Given the description of an element on the screen output the (x, y) to click on. 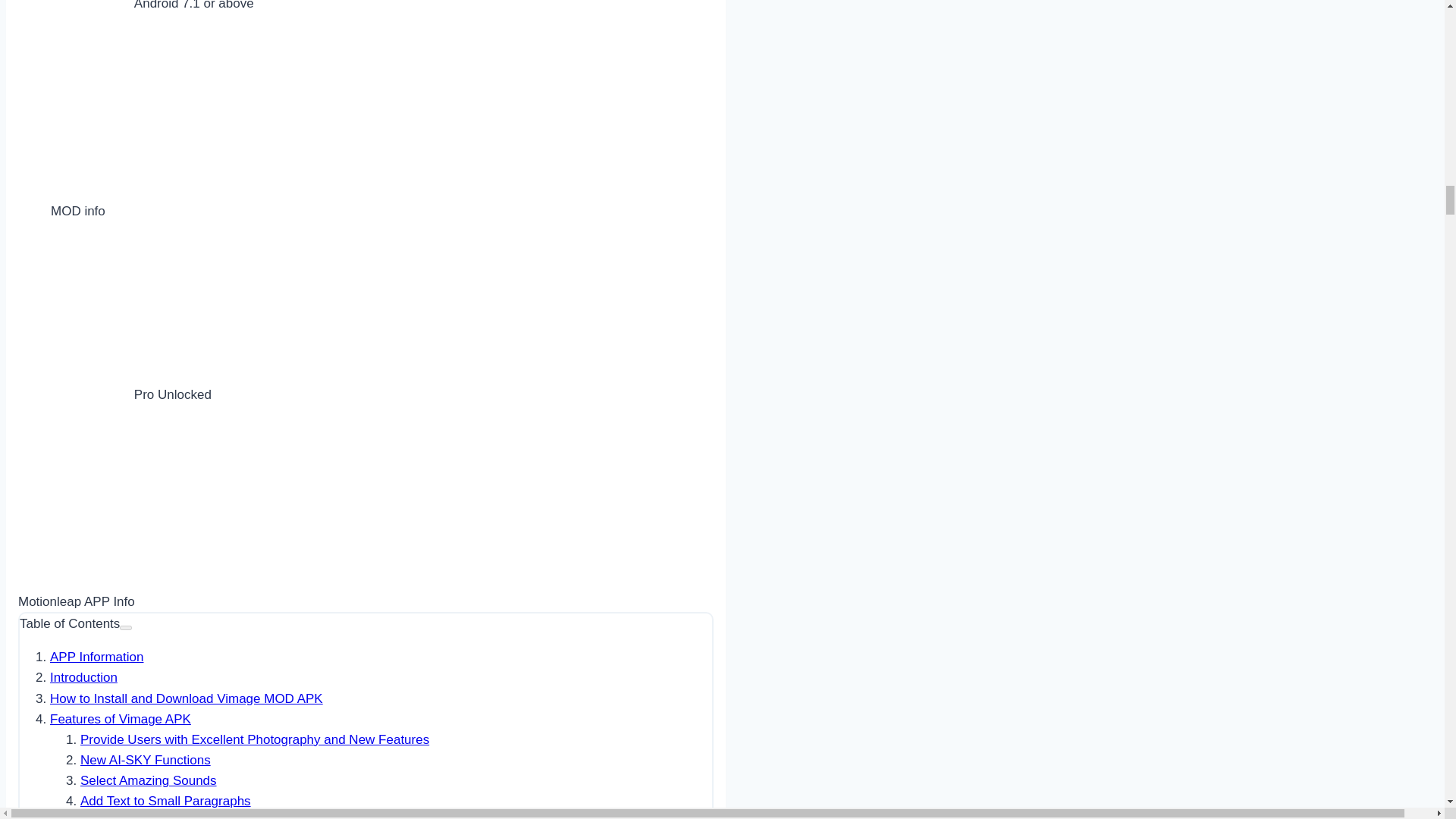
Create a Live Wallpaper and Try out Different Animation (239, 816)
APP Information (95, 657)
Add Text to Small Paragraphs (165, 800)
Features of Vimage APK (119, 718)
Select Amazing Sounds (148, 780)
Introduction (83, 677)
How to Install and Download Vimage MOD APK (186, 698)
New AI-SKY Functions (145, 759)
Provide Users with Excellent Photography and New Features (254, 739)
